Given the description of an element on the screen output the (x, y) to click on. 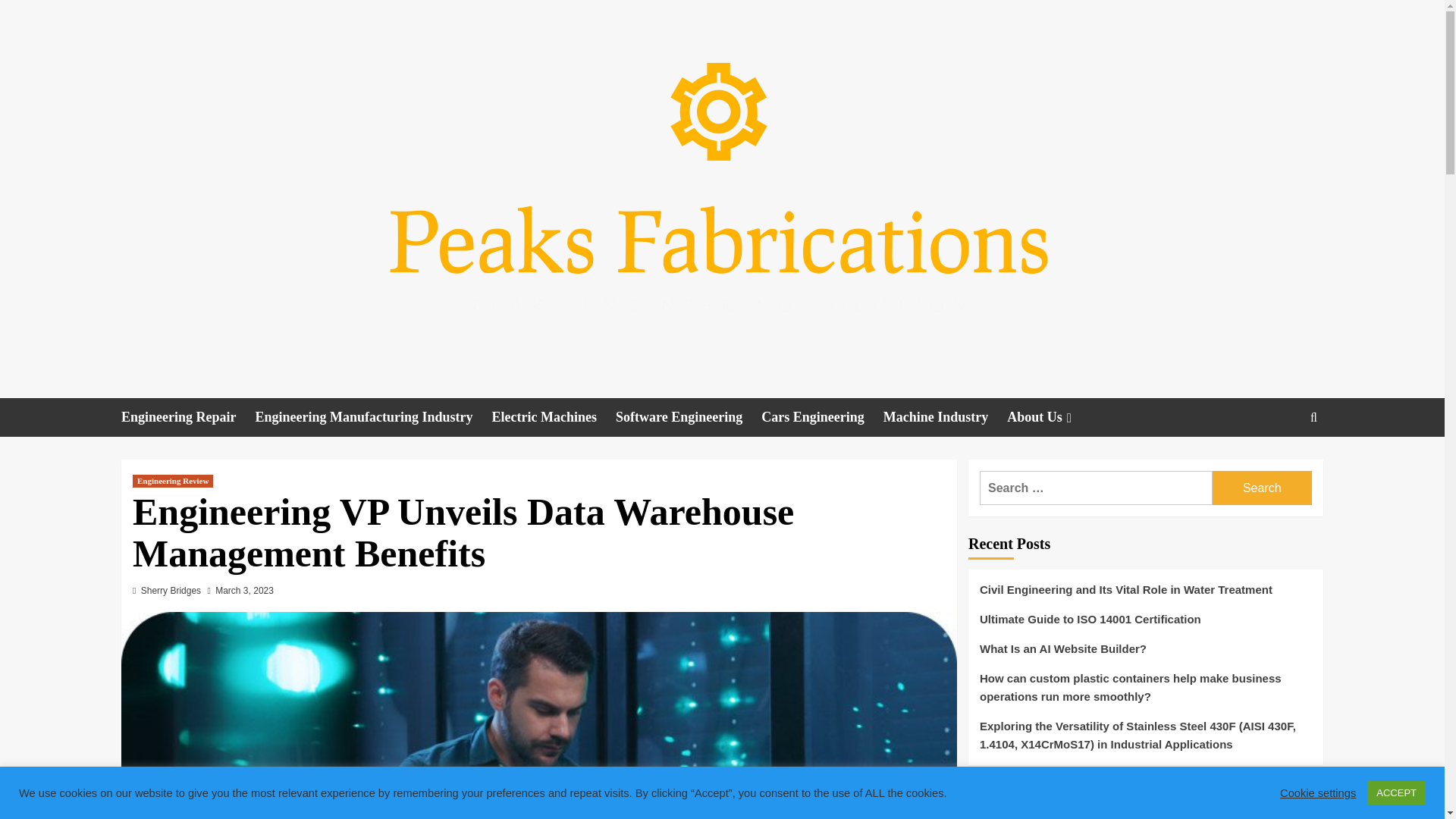
March 3, 2023 (244, 590)
About Us (1050, 417)
Search (1278, 464)
Engineering Review (172, 481)
Cars Engineering (822, 417)
Engineering Manufacturing Industry (373, 417)
Sherry Bridges (170, 590)
Machine Industry (945, 417)
Electric Machines (553, 417)
Search (1261, 487)
Engineering Repair (188, 417)
Software Engineering (688, 417)
Search (1261, 487)
